Given the description of an element on the screen output the (x, y) to click on. 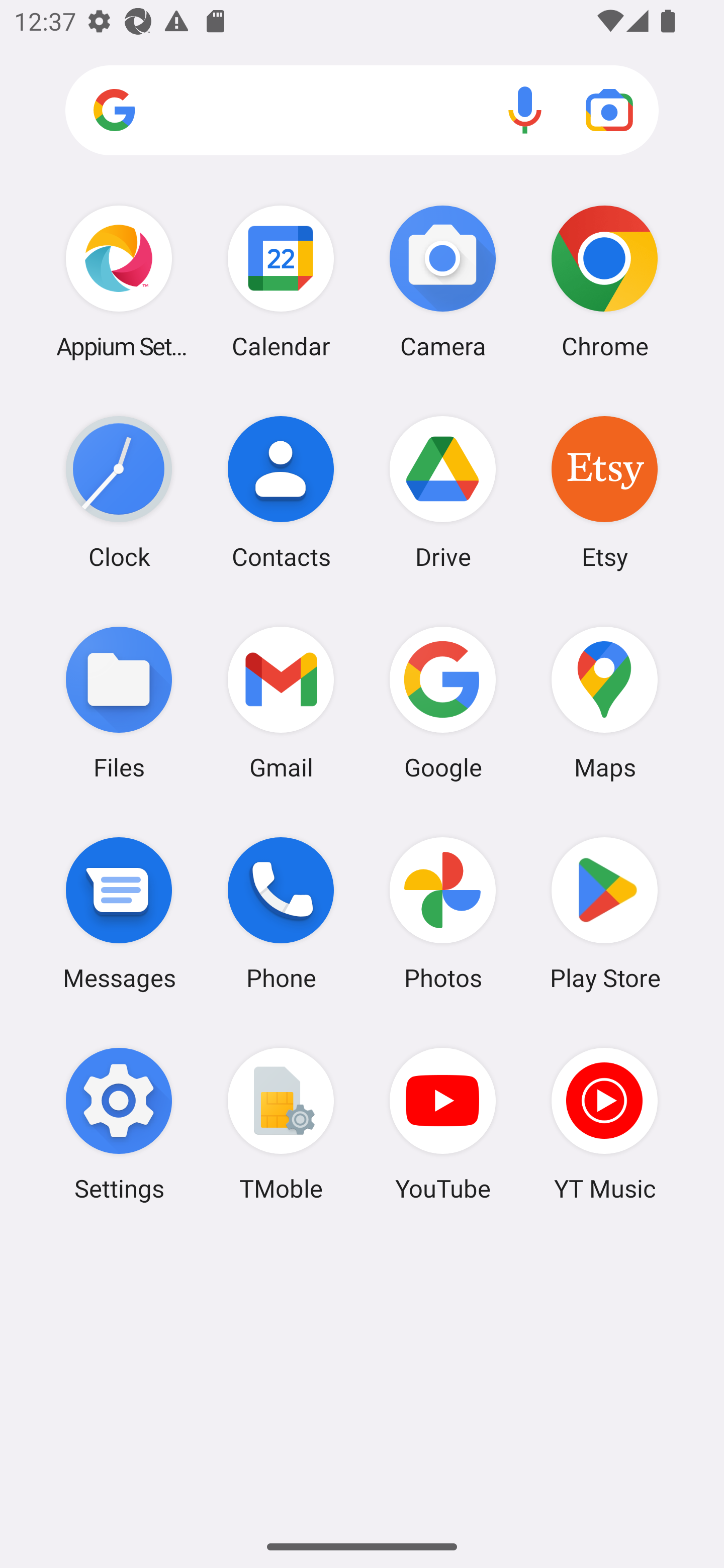
Search apps, web and more (361, 110)
Voice search (524, 109)
Google Lens (608, 109)
Appium Settings (118, 281)
Calendar (280, 281)
Camera (443, 281)
Chrome (604, 281)
Clock (118, 492)
Contacts (280, 492)
Drive (443, 492)
Etsy (604, 492)
Files (118, 702)
Gmail (280, 702)
Google (443, 702)
Maps (604, 702)
Messages (118, 913)
Phone (280, 913)
Photos (443, 913)
Play Store (604, 913)
Settings (118, 1124)
TMoble (280, 1124)
YouTube (443, 1124)
YT Music (604, 1124)
